Given the description of an element on the screen output the (x, y) to click on. 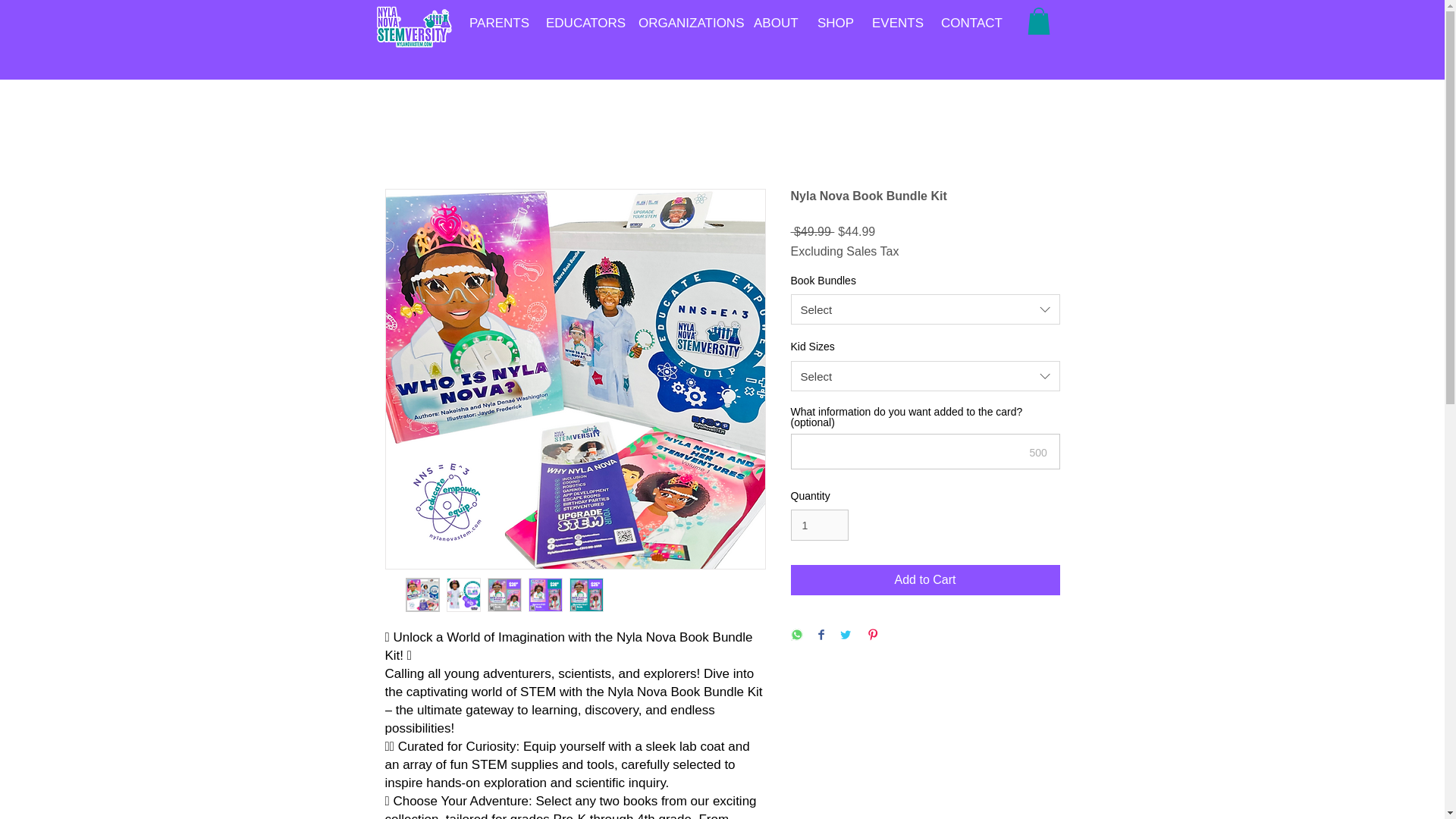
CONTACT (968, 23)
Add to Cart (924, 580)
Select (924, 309)
1 (818, 524)
Select (924, 376)
SHOP (833, 23)
